Given the description of an element on the screen output the (x, y) to click on. 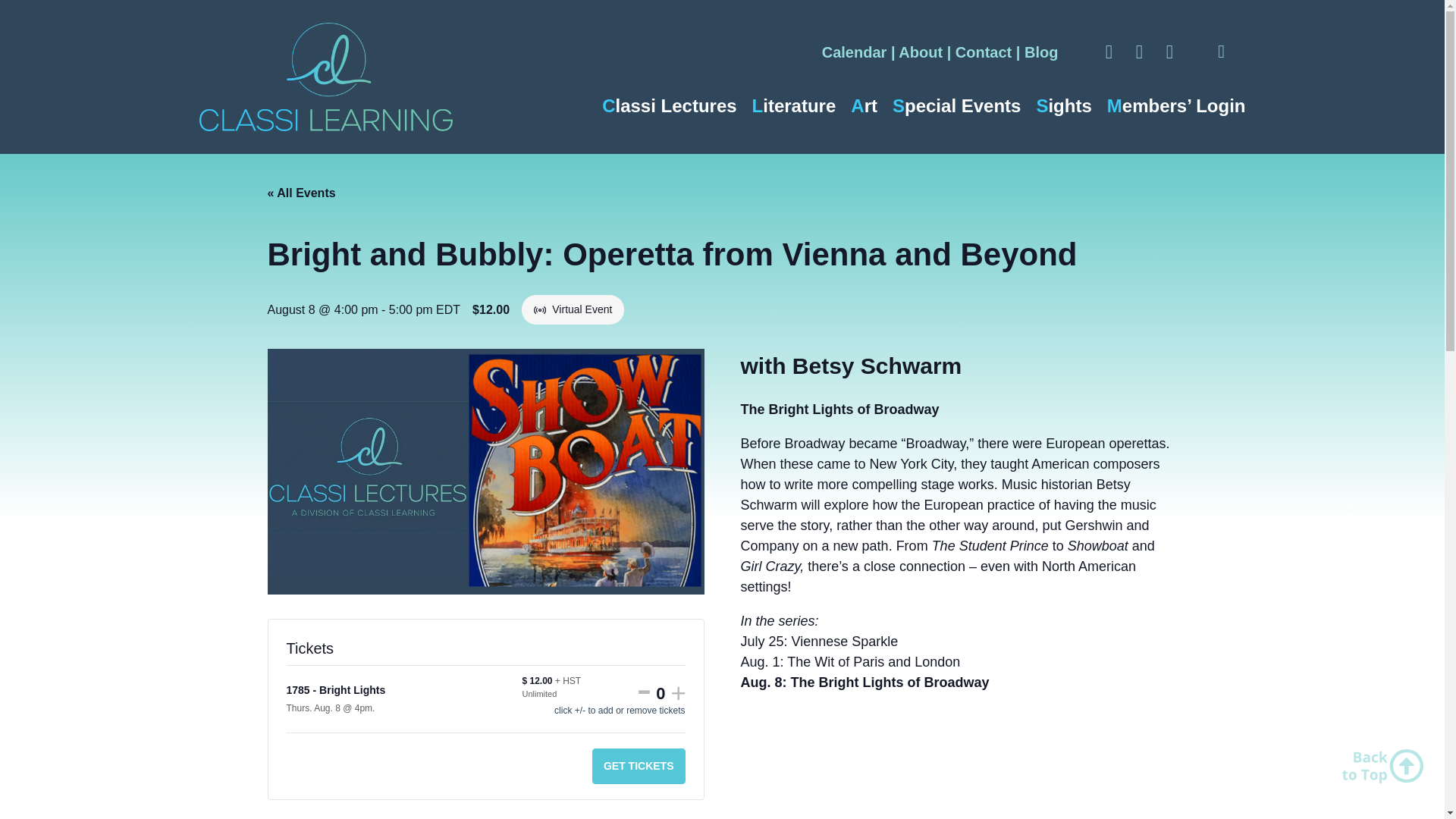
Calendar (854, 52)
Sights (1063, 105)
Literature (794, 105)
0 (660, 692)
Classi Lectures (669, 105)
Contact (983, 52)
Special Events (956, 105)
Virtual Event (540, 309)
Blog (1041, 52)
Art (864, 105)
About (920, 52)
Virtual Event (541, 309)
